Given the description of an element on the screen output the (x, y) to click on. 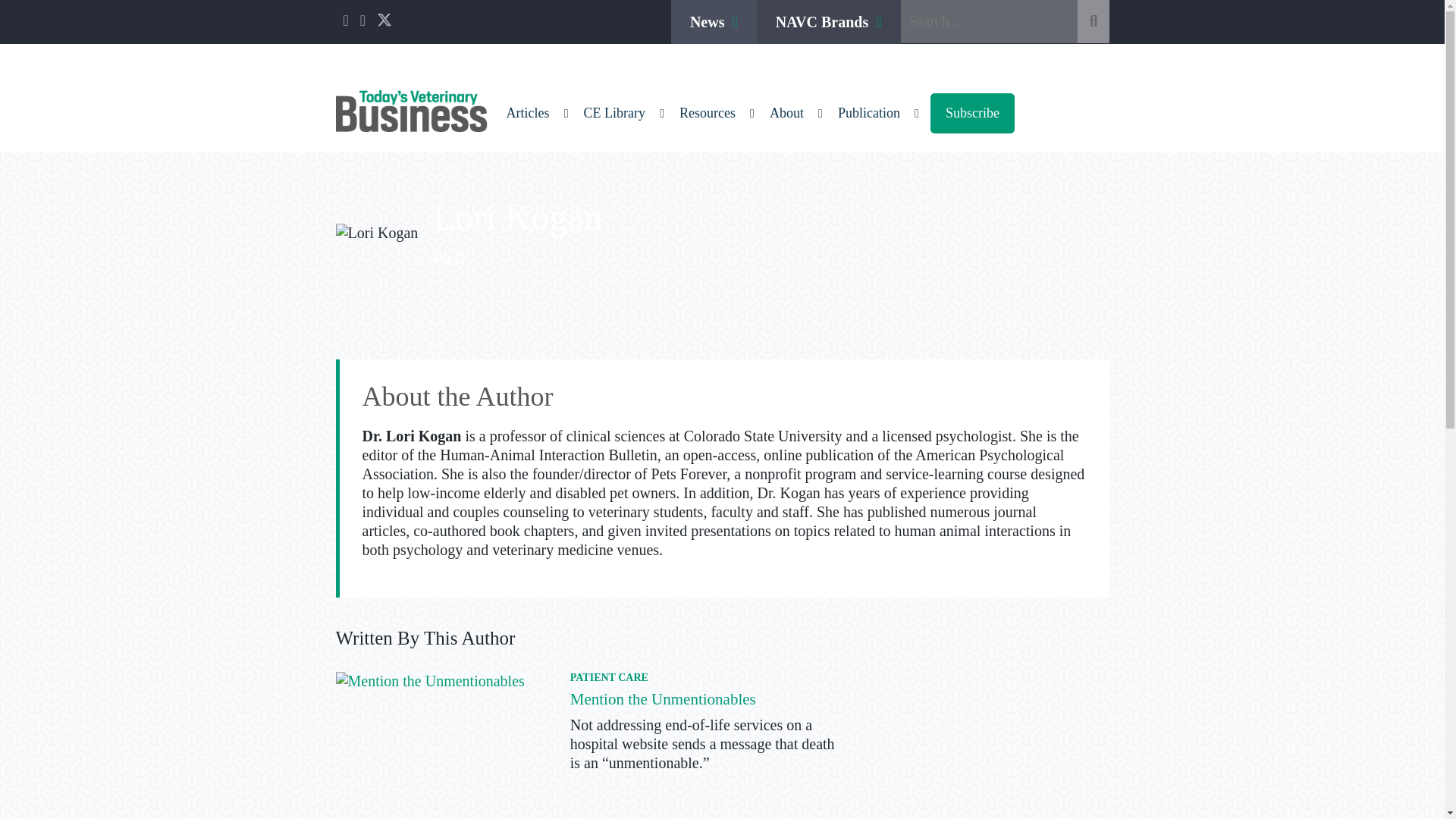
NAVC Brands (829, 22)
News (714, 22)
Twitter (384, 22)
